Given the description of an element on the screen output the (x, y) to click on. 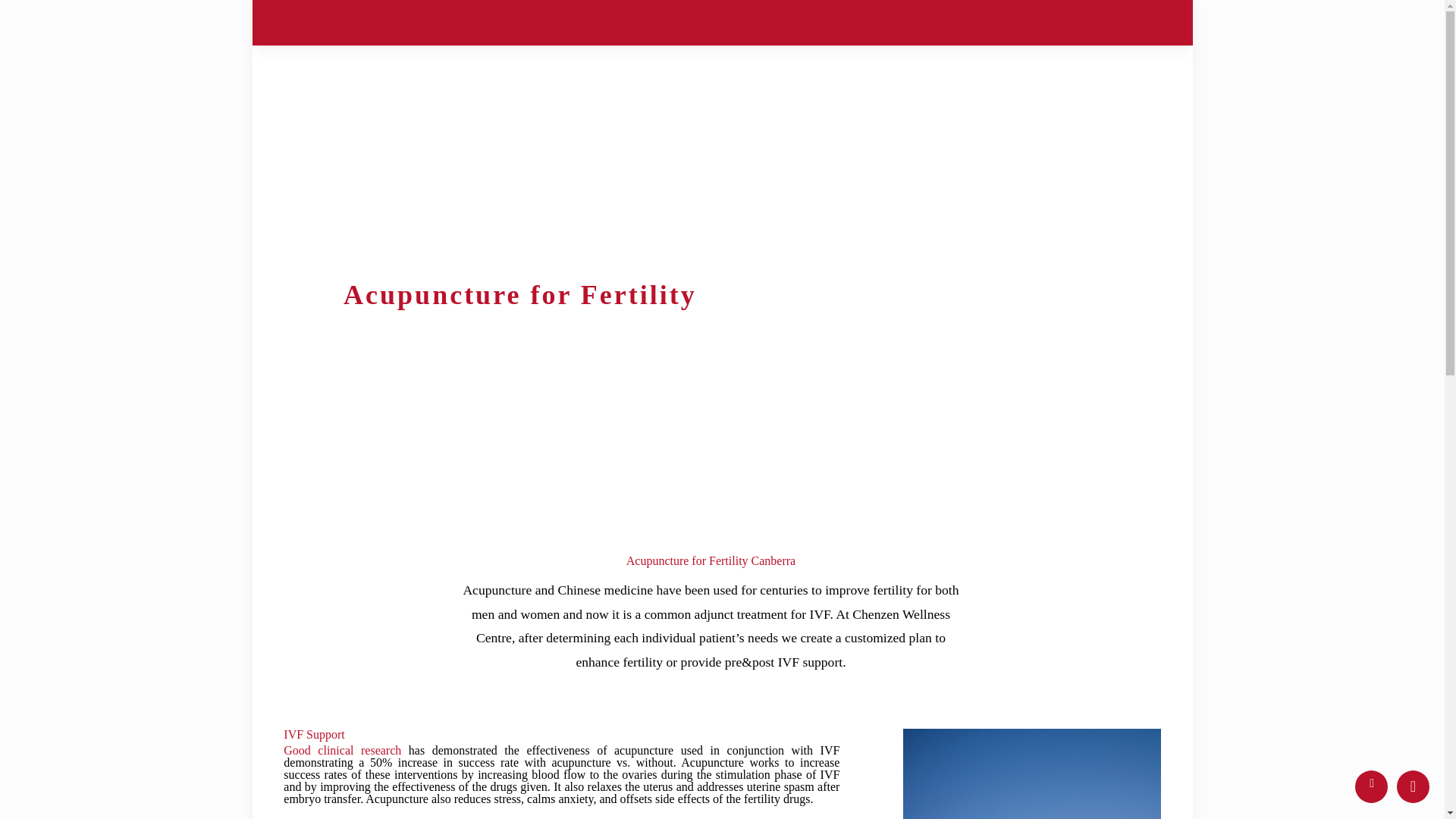
Good clinical research (342, 749)
